Given the description of an element on the screen output the (x, y) to click on. 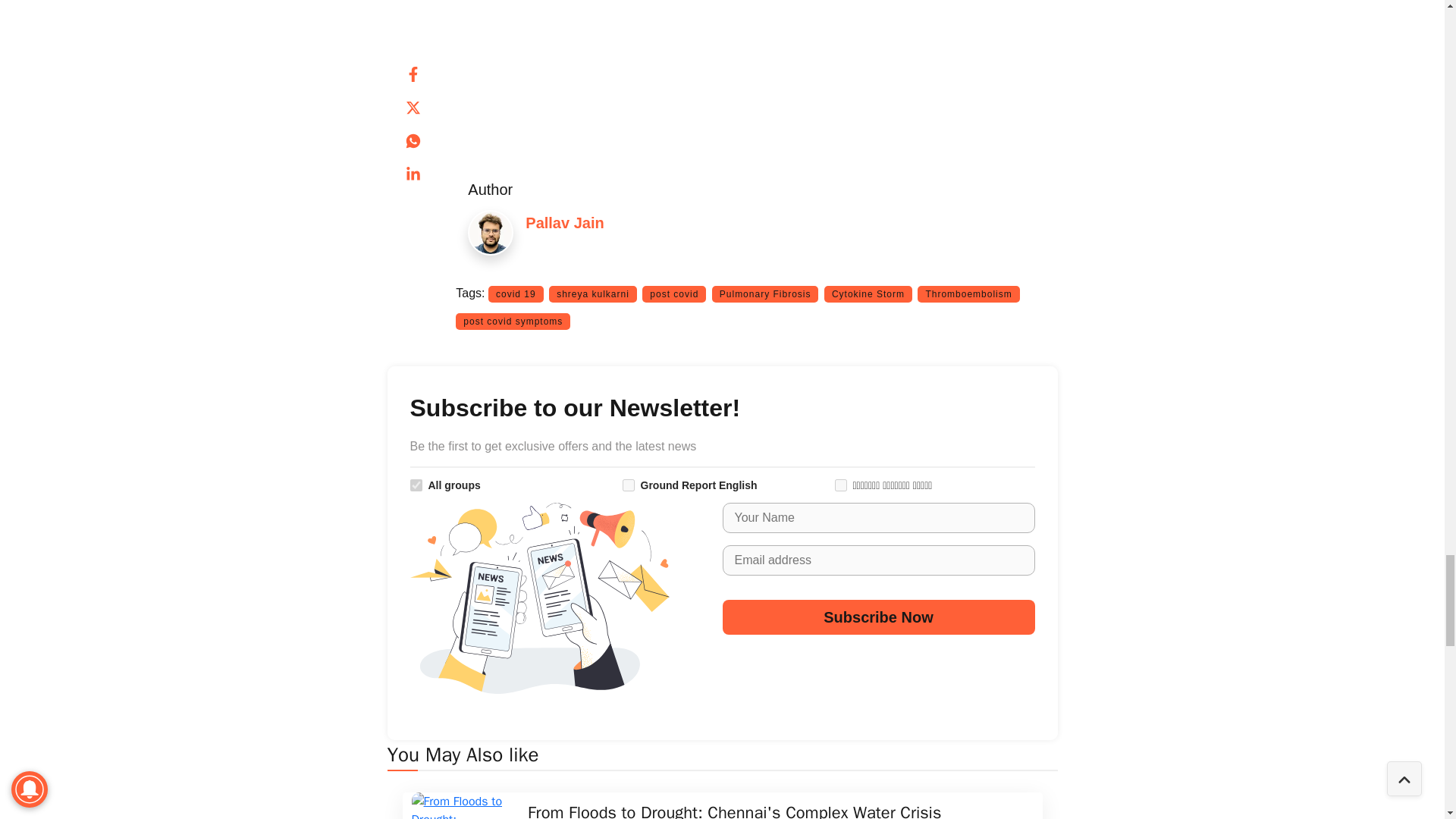
199 (627, 485)
200 (839, 485)
